Given the description of an element on the screen output the (x, y) to click on. 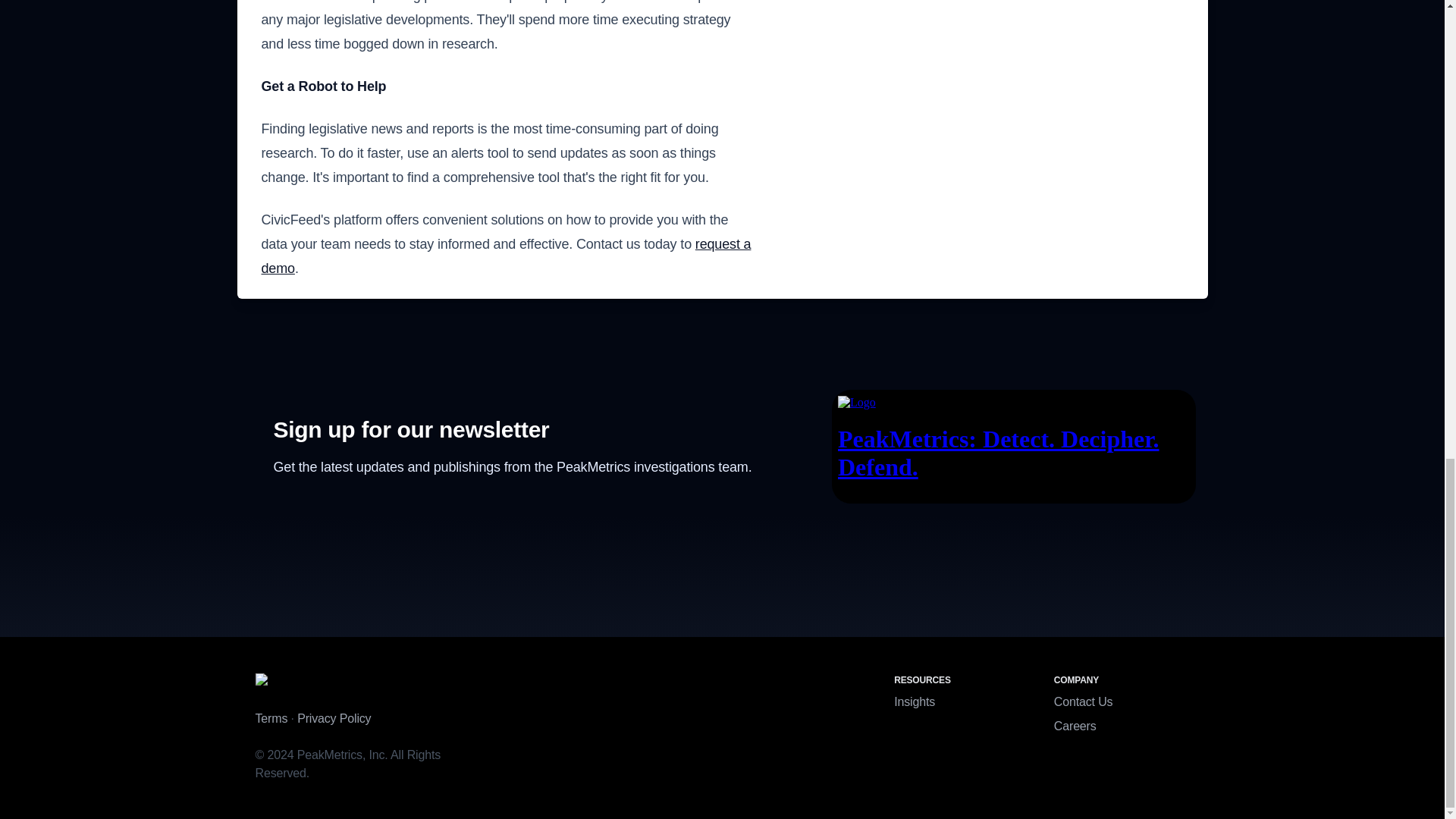
Terms (270, 717)
Careers (1075, 725)
Contact Us (1083, 701)
Insights (913, 701)
Privacy Policy (334, 717)
request a demo (505, 256)
